Given the description of an element on the screen output the (x, y) to click on. 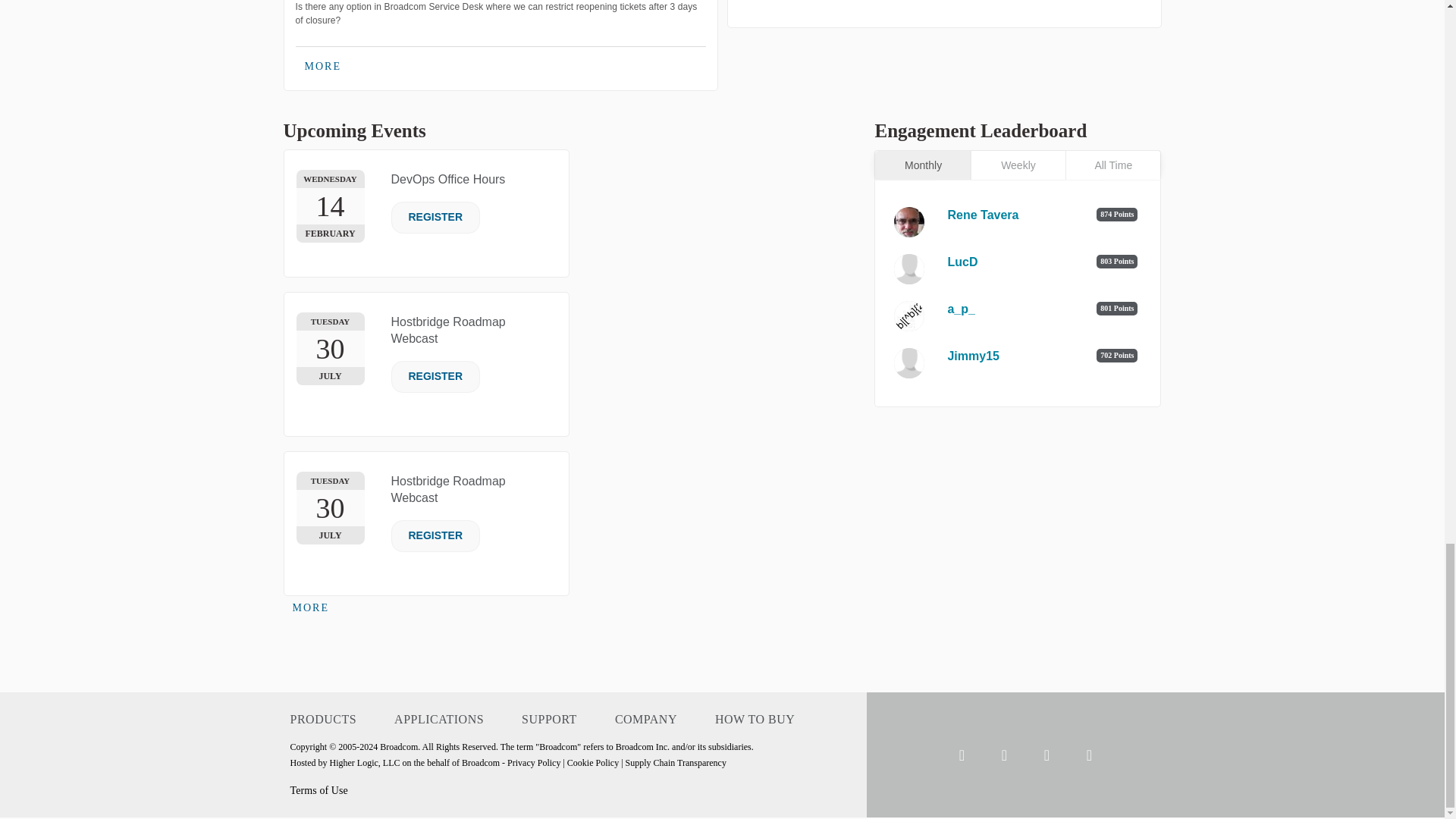
More (310, 607)
View All Blog Posts (765, 0)
More (322, 66)
Hostbridge Roadmap Webcast (448, 329)
DevOps Office  Hours (448, 178)
Hostbridge Roadmap Webcast (448, 489)
